Given the description of an element on the screen output the (x, y) to click on. 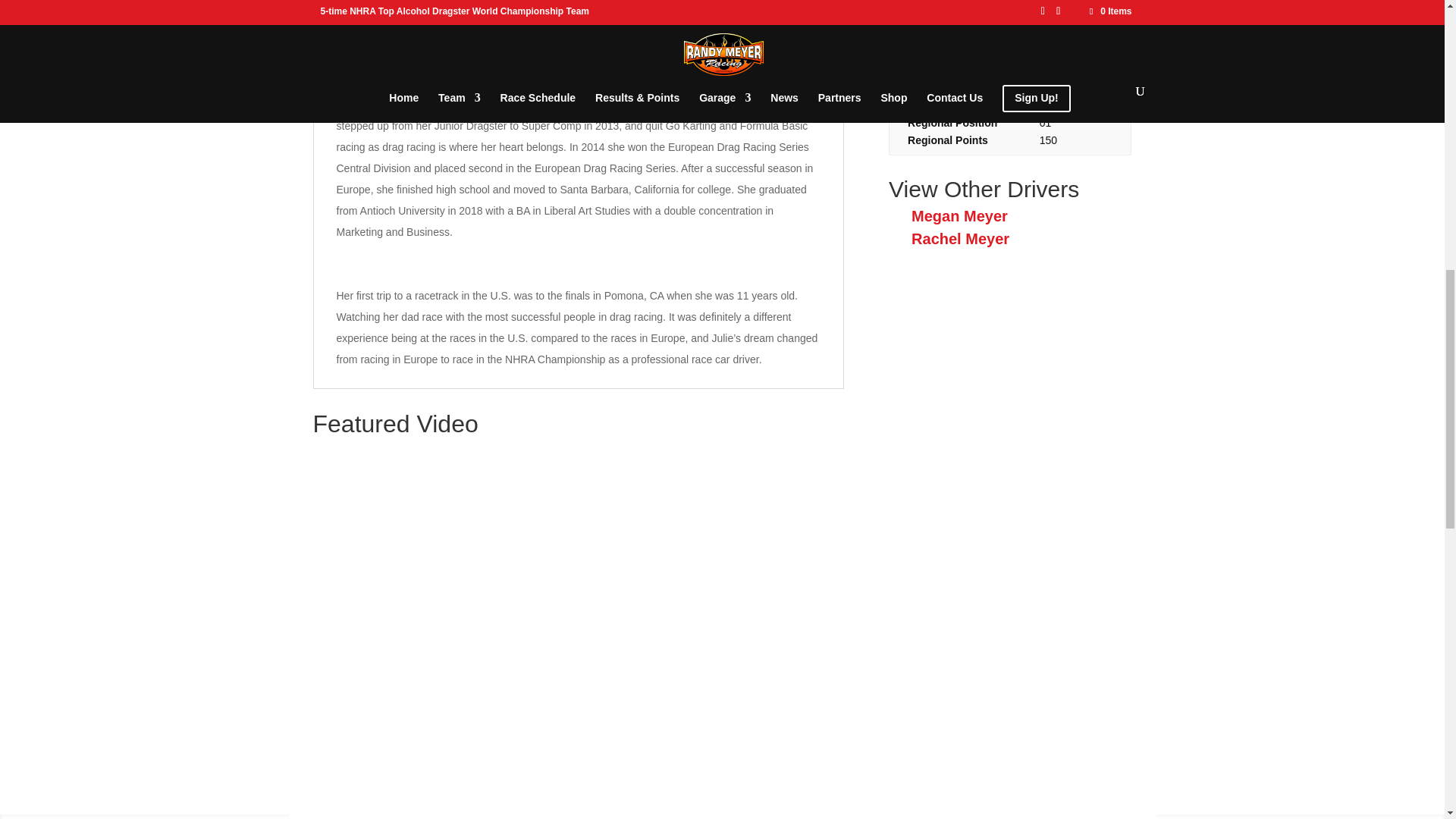
Biography (385, 5)
Stats (481, 5)
